Given the description of an element on the screen output the (x, y) to click on. 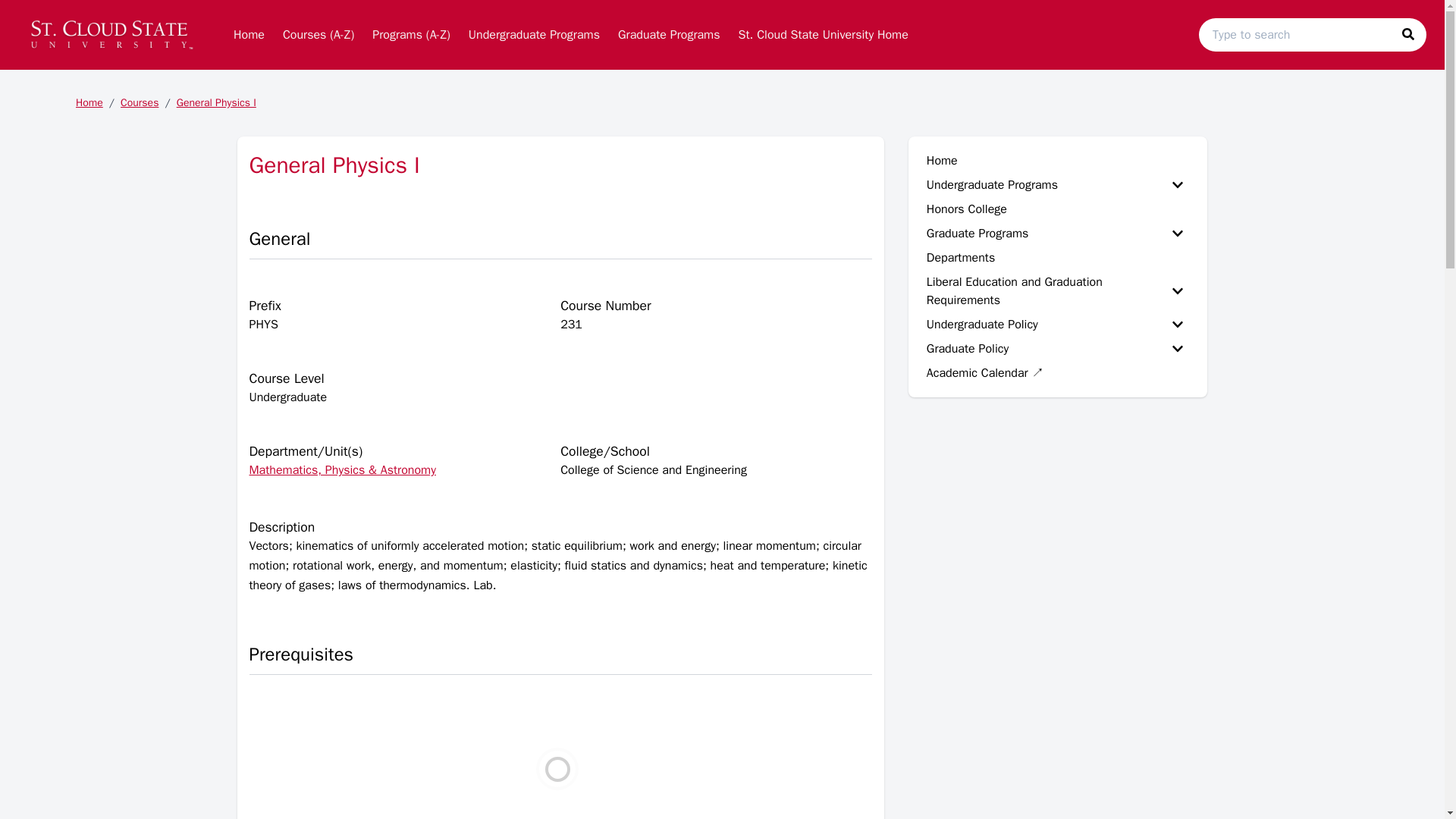
Graduate Programs (668, 34)
Undergraduate Programs (534, 34)
Undergraduate Programs (534, 34)
Graduate Programs (668, 34)
St. Cloud State University Home (823, 34)
Home (248, 34)
St. Cloud State University Home (823, 34)
Home (248, 34)
